Given the description of an element on the screen output the (x, y) to click on. 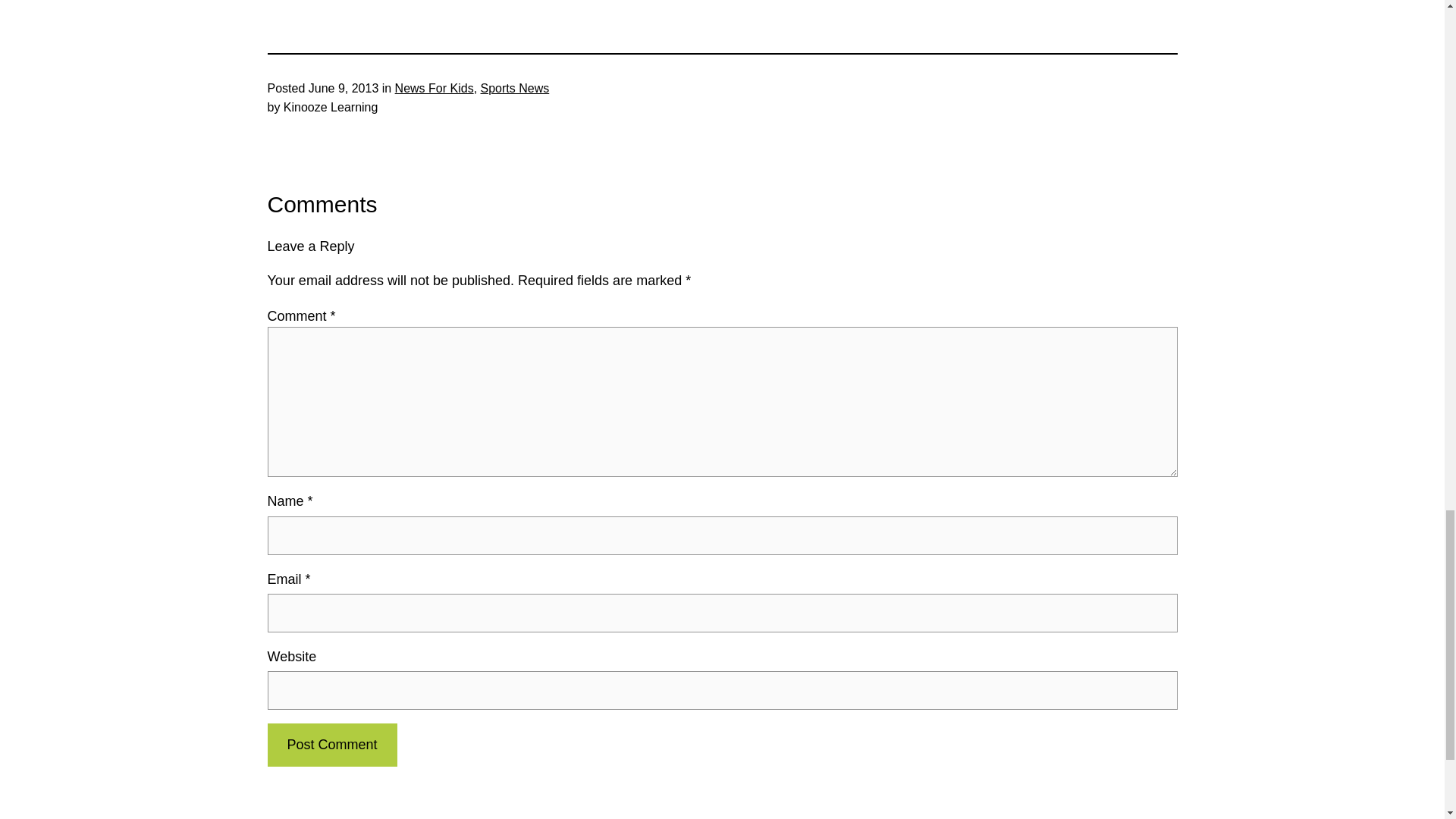
News For Kids (434, 88)
Post Comment (331, 744)
Sports News (515, 88)
Post Comment (331, 744)
